Given the description of an element on the screen output the (x, y) to click on. 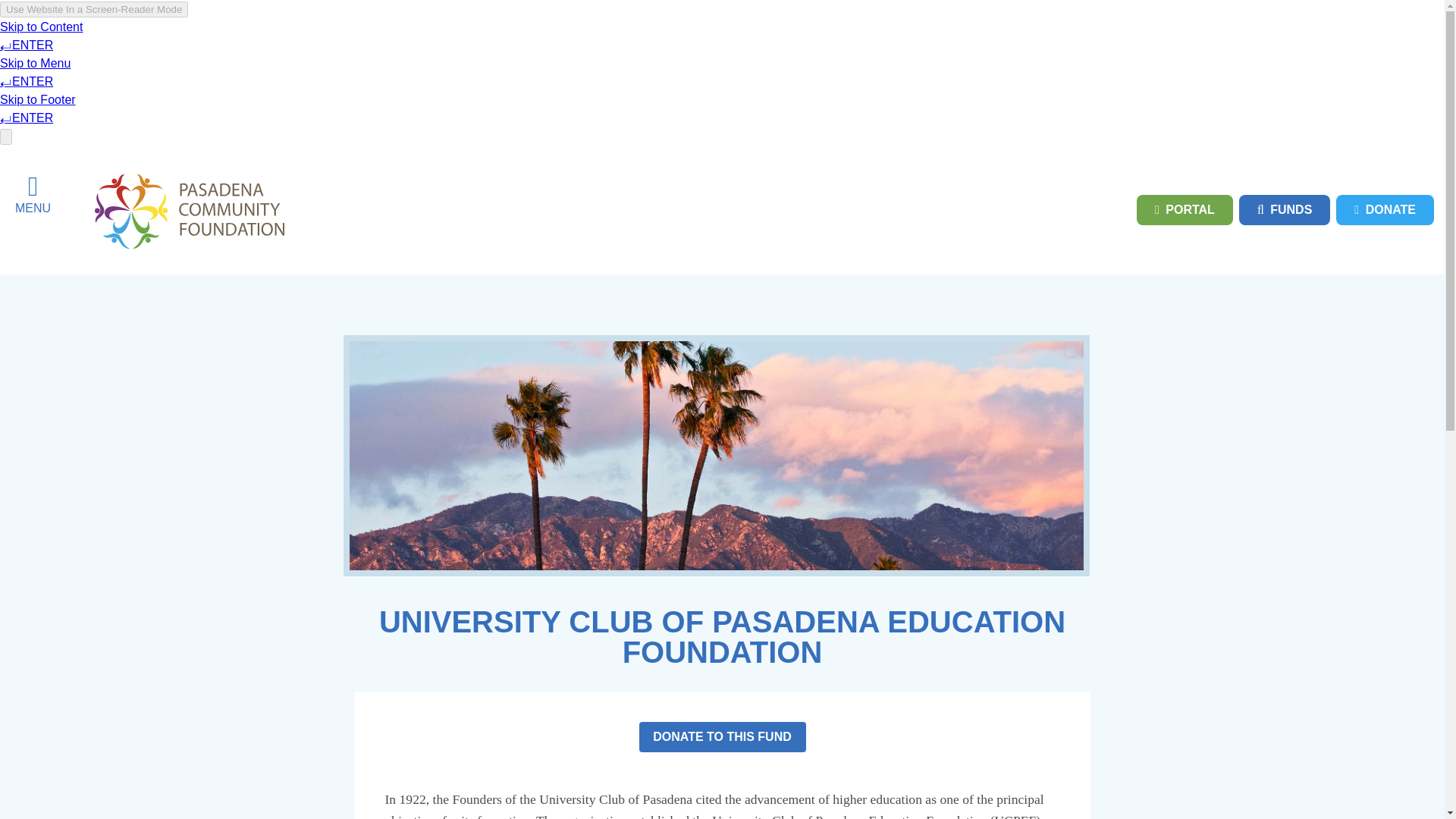
DONATE TO THIS FUND (722, 736)
FUNDS (1284, 209)
DONATE (1385, 209)
Donate To This Fund (722, 736)
PORTAL (1185, 209)
